Given the description of an element on the screen output the (x, y) to click on. 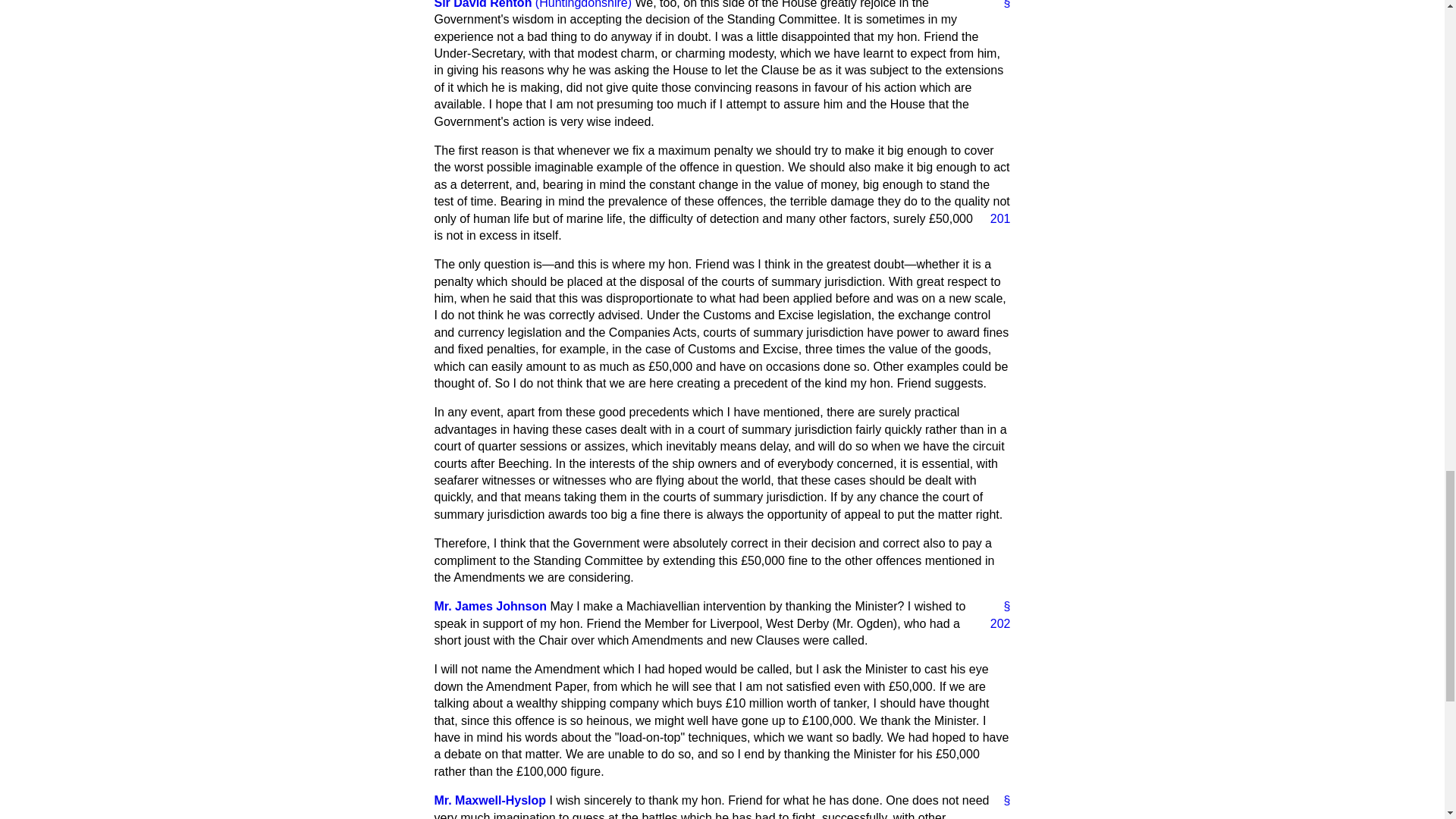
202 (994, 623)
201 (994, 218)
Sir David Renton (482, 4)
Mr David Renton (482, 4)
Mr. Maxwell-Hyslop (489, 799)
Huntingdonshire (583, 4)
Link to this speech by Mr Robin Maxwell-Hyslop (1000, 800)
Mr. James Johnson (490, 605)
Link to this speech by Mr James Johnson (1000, 606)
Link to this speech by Mr David Renton (1000, 5)
Mr James Johnson (490, 605)
Mr Robin Maxwell-Hyslop (489, 799)
